Given the description of an element on the screen output the (x, y) to click on. 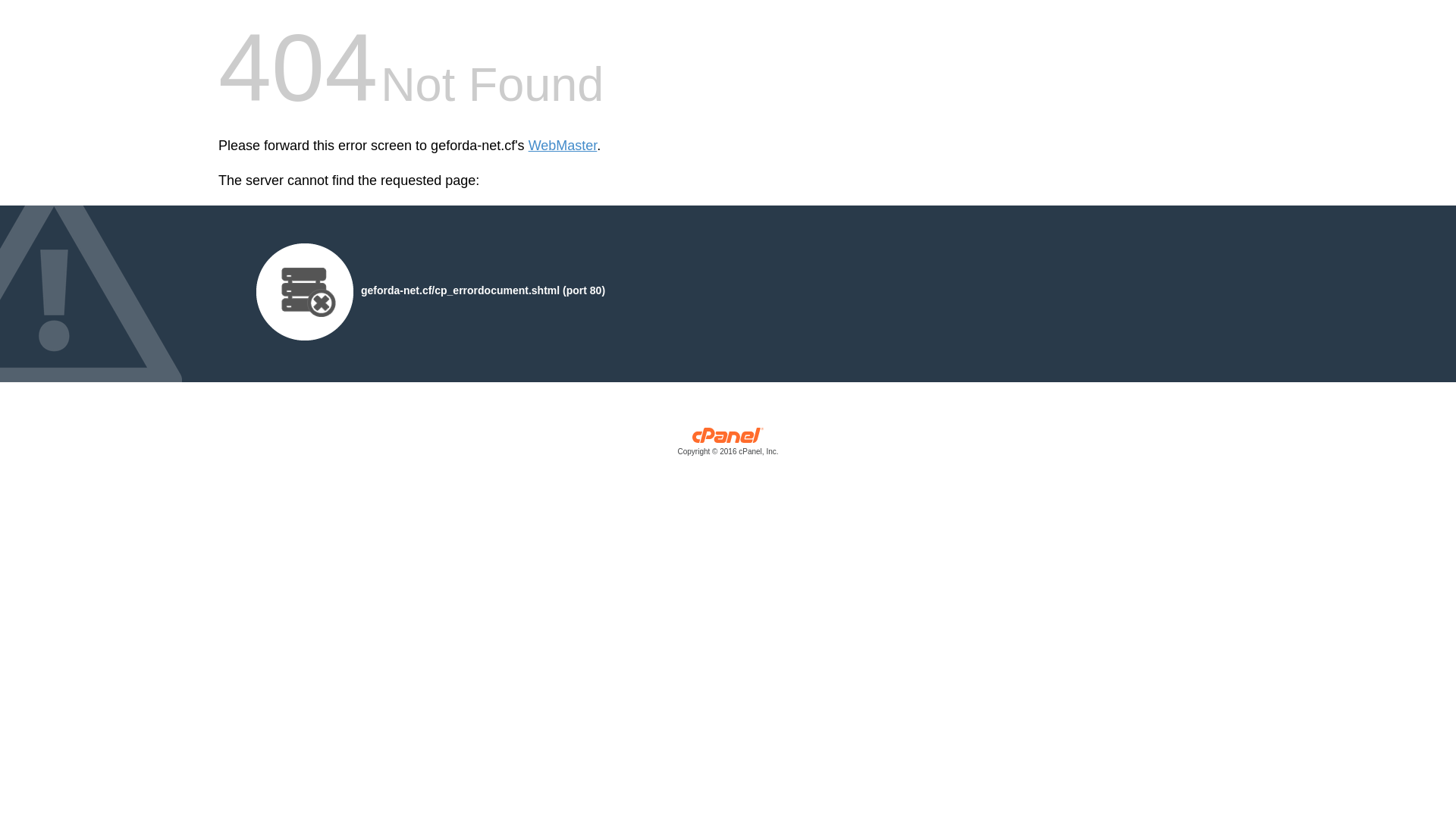
WebMaster Element type: text (562, 145)
